Given the description of an element on the screen output the (x, y) to click on. 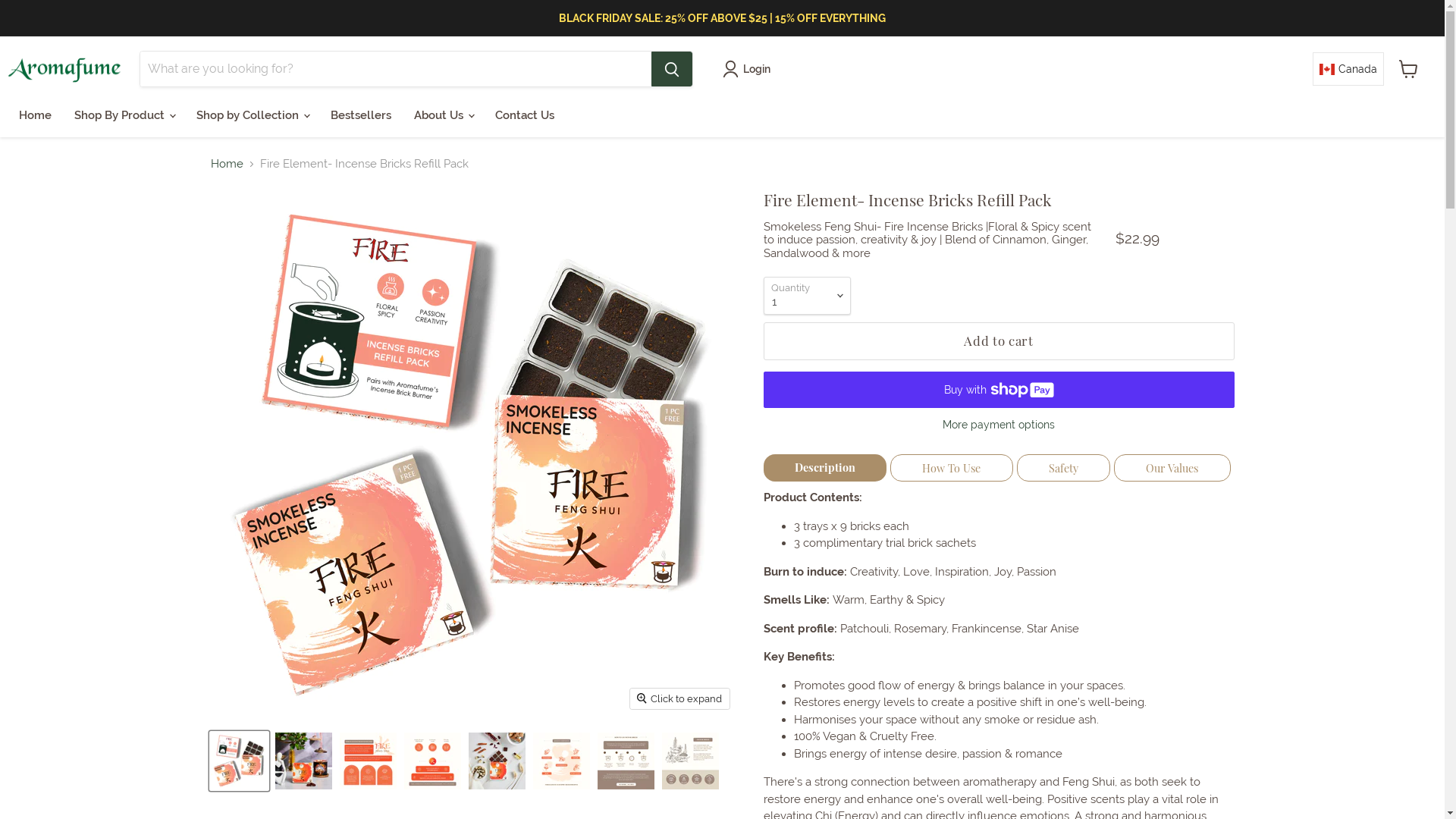
Add to cart Element type: text (997, 341)
More payment options Element type: text (997, 424)
Canada Element type: text (1347, 68)
Home Element type: text (34, 115)
Contact Us Element type: text (524, 115)
Bestsellers Element type: text (360, 115)
View cart Element type: text (1408, 68)
Home Element type: text (226, 163)
Login Element type: text (748, 68)
Click to expand Element type: text (678, 698)
